Given the description of an element on the screen output the (x, y) to click on. 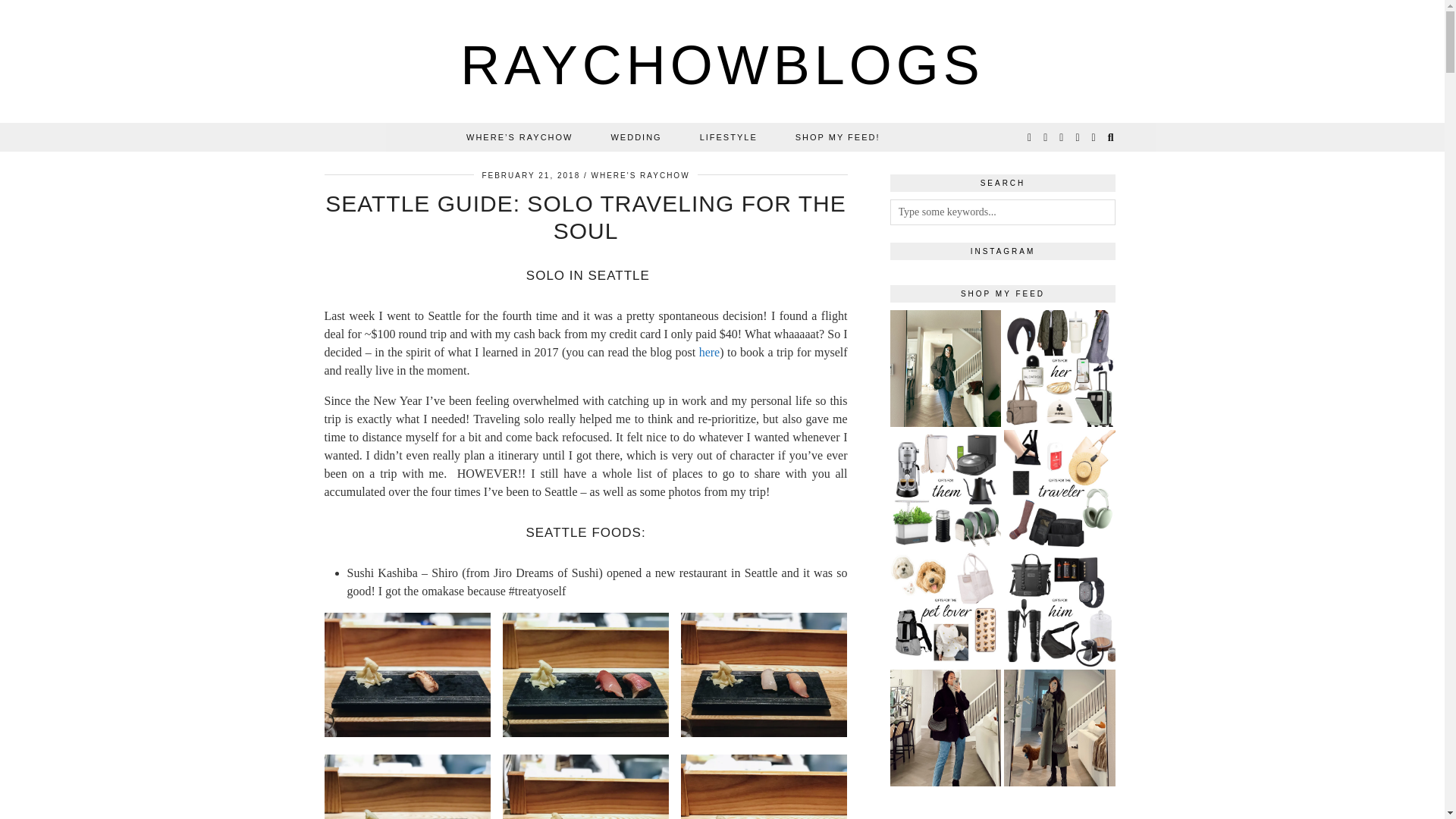
WEDDING (635, 136)
Raychowblogs (722, 65)
LIFESTYLE (728, 136)
RAYCHOWBLOGS (722, 65)
SHOP MY FEED! (837, 136)
